Given the description of an element on the screen output the (x, y) to click on. 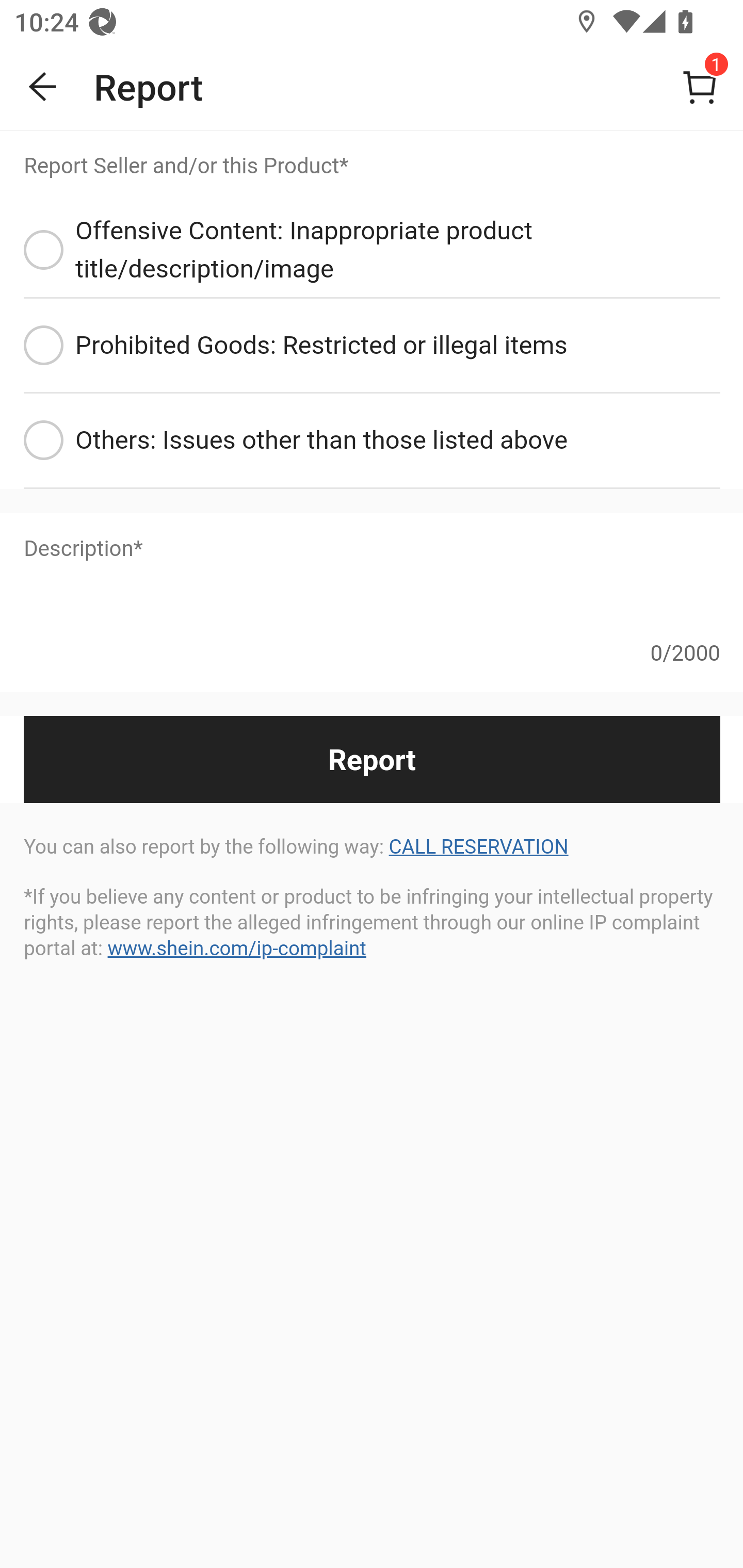
BACK (43, 86)
Cart 1 (699, 86)
 Prohibited Goods: Restricted or illegal items (371, 346)
 Others: Issues other than those listed above (371, 441)
0/2000 (371, 638)
Report (371, 758)
CALL RESERVATION (477, 847)
www.shein.com/ip-complaint (236, 947)
